Given the description of an element on the screen output the (x, y) to click on. 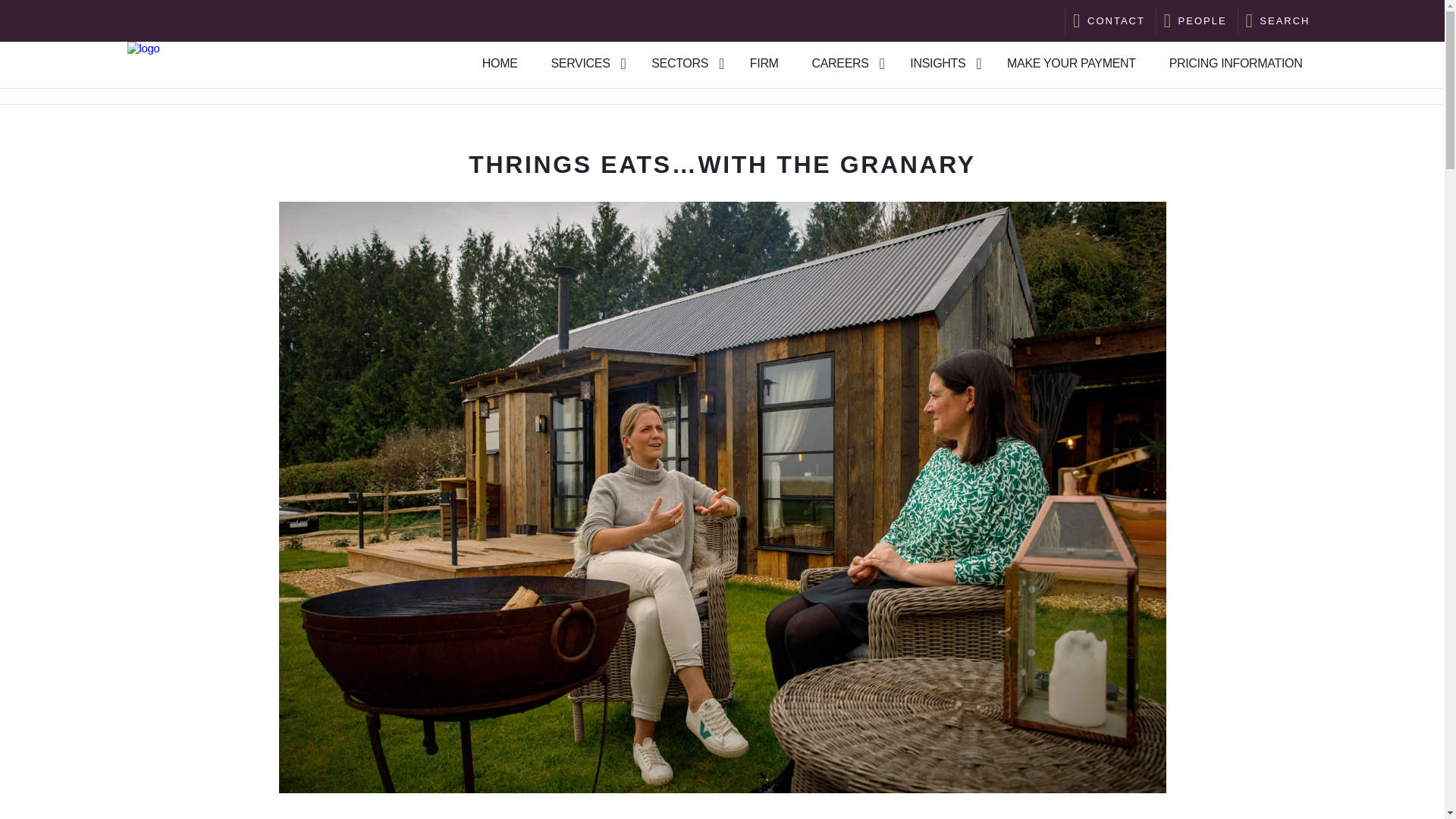
logo (144, 47)
PEOPLE (1202, 20)
HOME (499, 64)
SEARCH (1283, 20)
CONTACT (1115, 20)
SERVICES (579, 64)
